Given the description of an element on the screen output the (x, y) to click on. 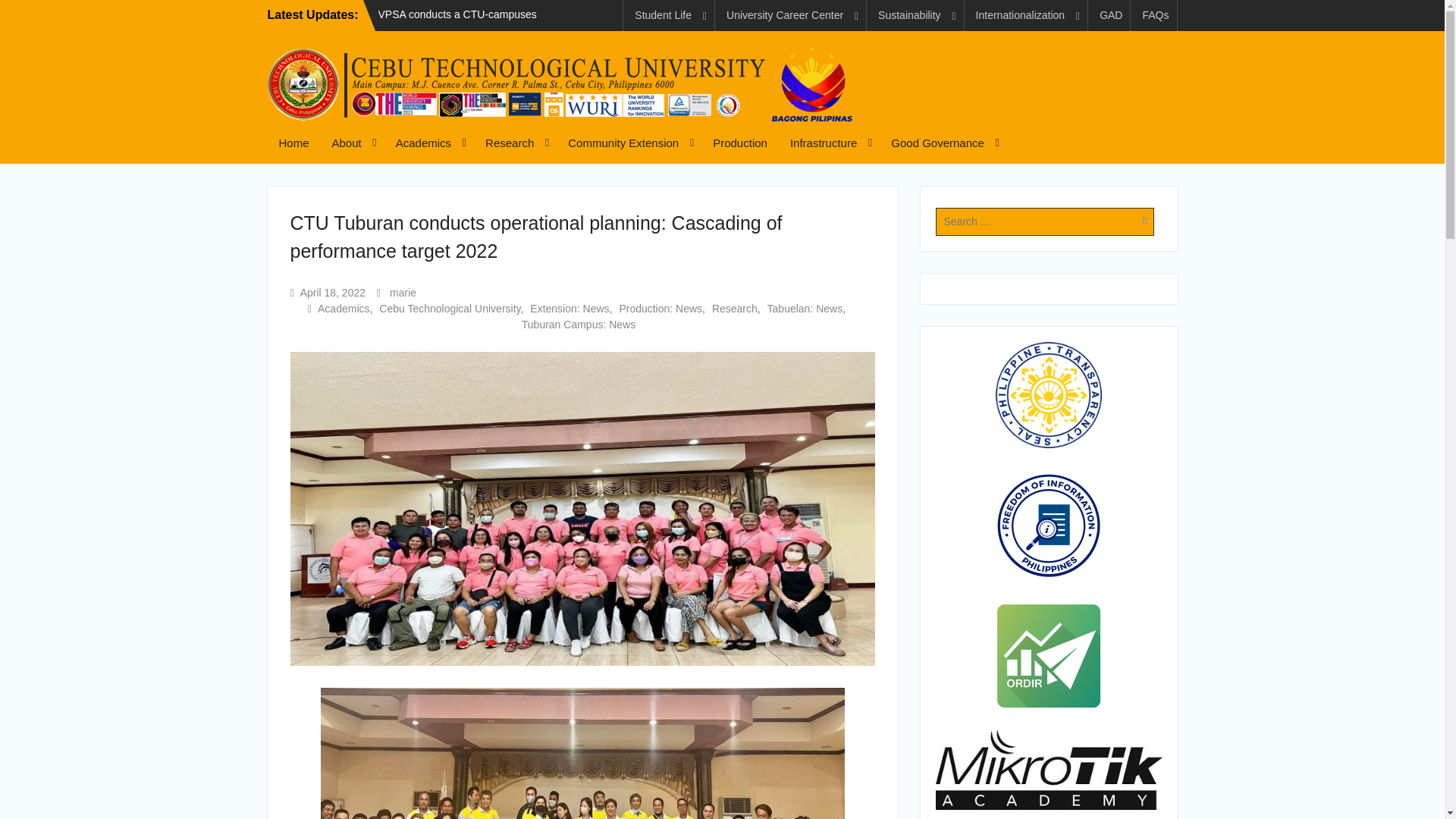
mikrotik (1048, 769)
Frequently Asked Questions (1155, 15)
Transparency Seal (1048, 394)
Freedom of Information (1048, 525)
